Given the description of an element on the screen output the (x, y) to click on. 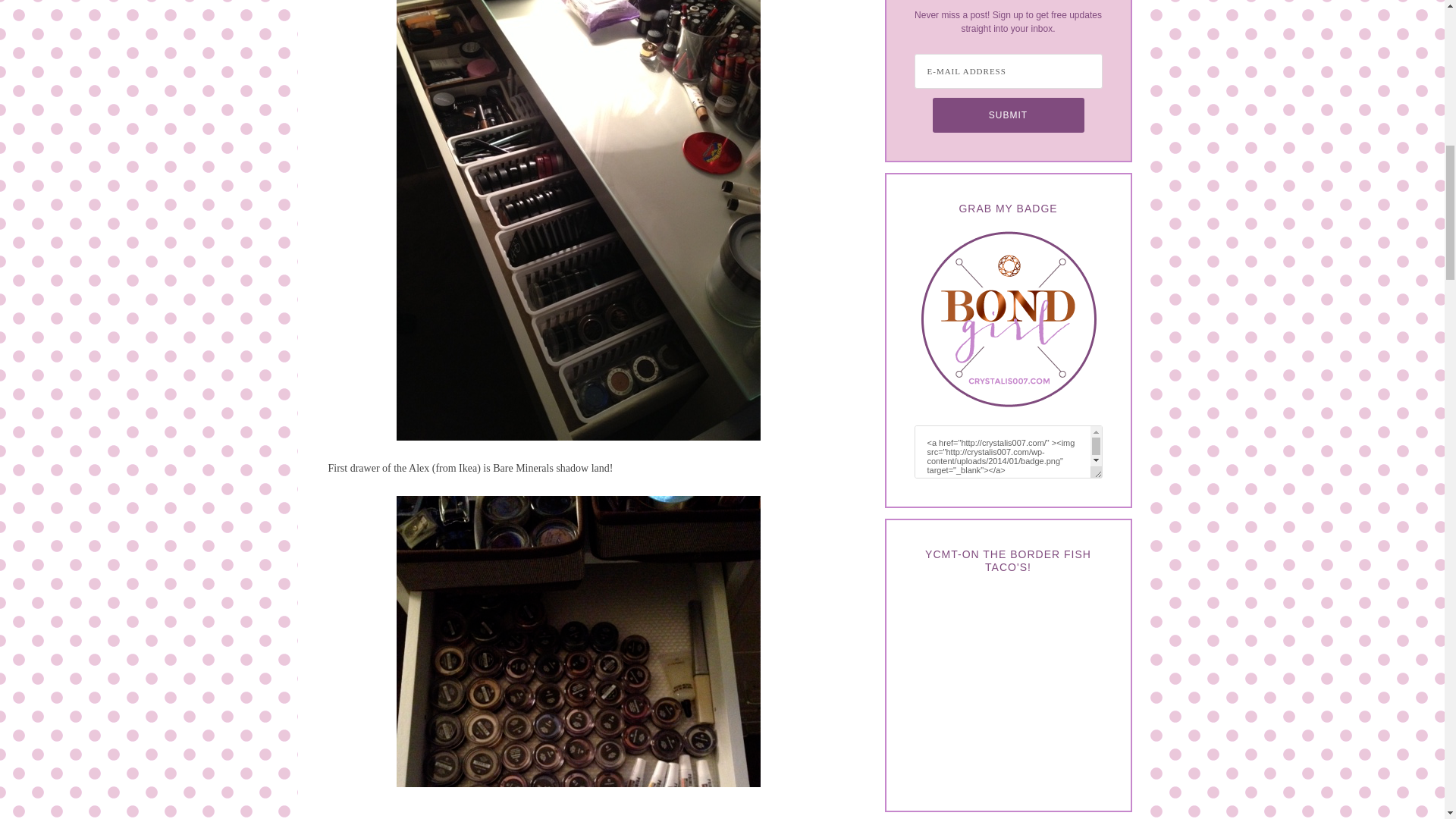
Submit (1008, 114)
E-Mail Address (1008, 71)
photo-2 (578, 657)
